Given the description of an element on the screen output the (x, y) to click on. 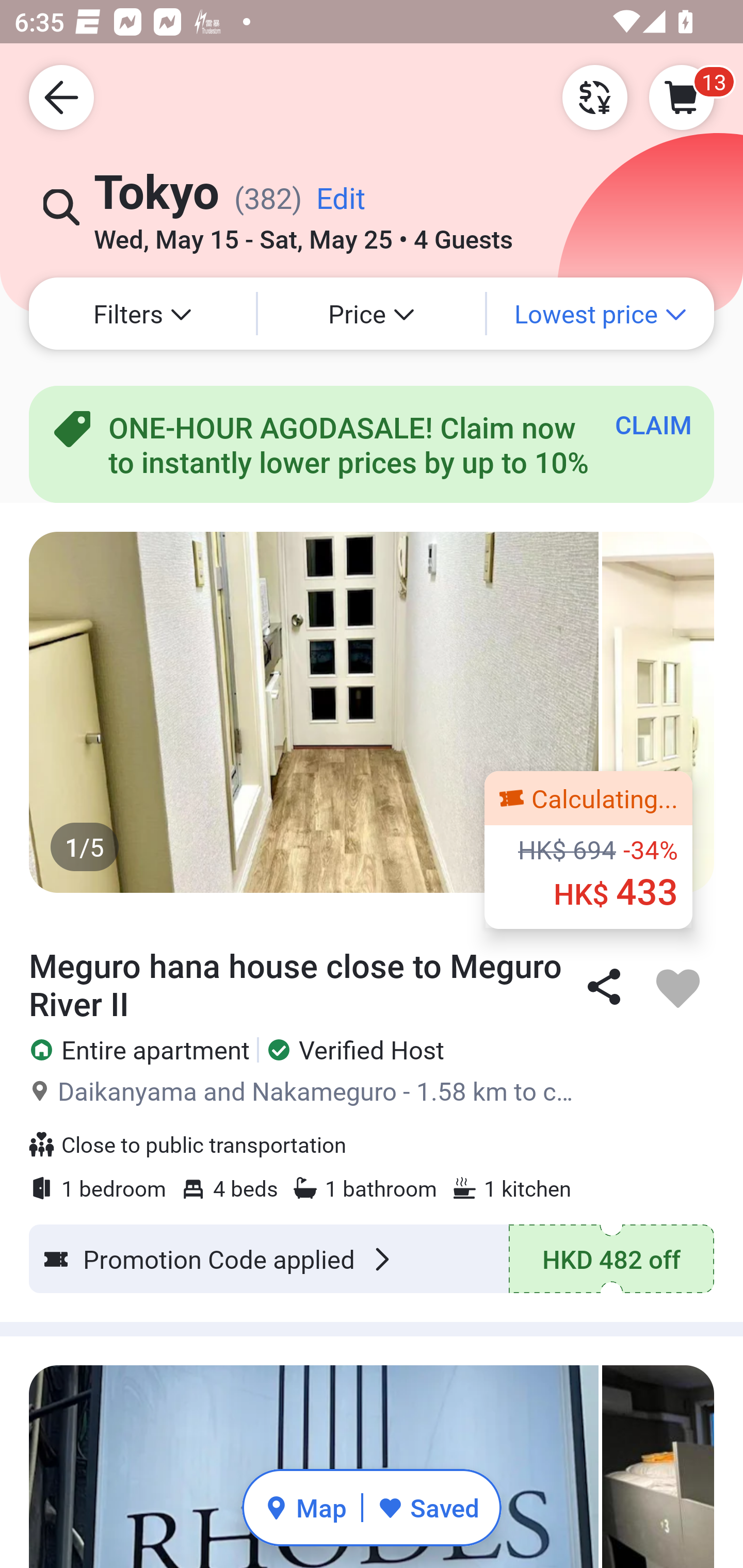
Wed, May 15 - Sat, May 25 • 4 Guests (302, 232)
Filters (141, 313)
Price (371, 313)
Lowest price (600, 313)
CLAIM (653, 424)
1/5 (371, 711)
Calculating... ‪HK$ 694 -34% ‪HK$ 433 (588, 849)
Promotion Code applied HKD 482 off (371, 1259)
Map (305, 1507)
Saved (428, 1507)
